Given the description of an element on the screen output the (x, y) to click on. 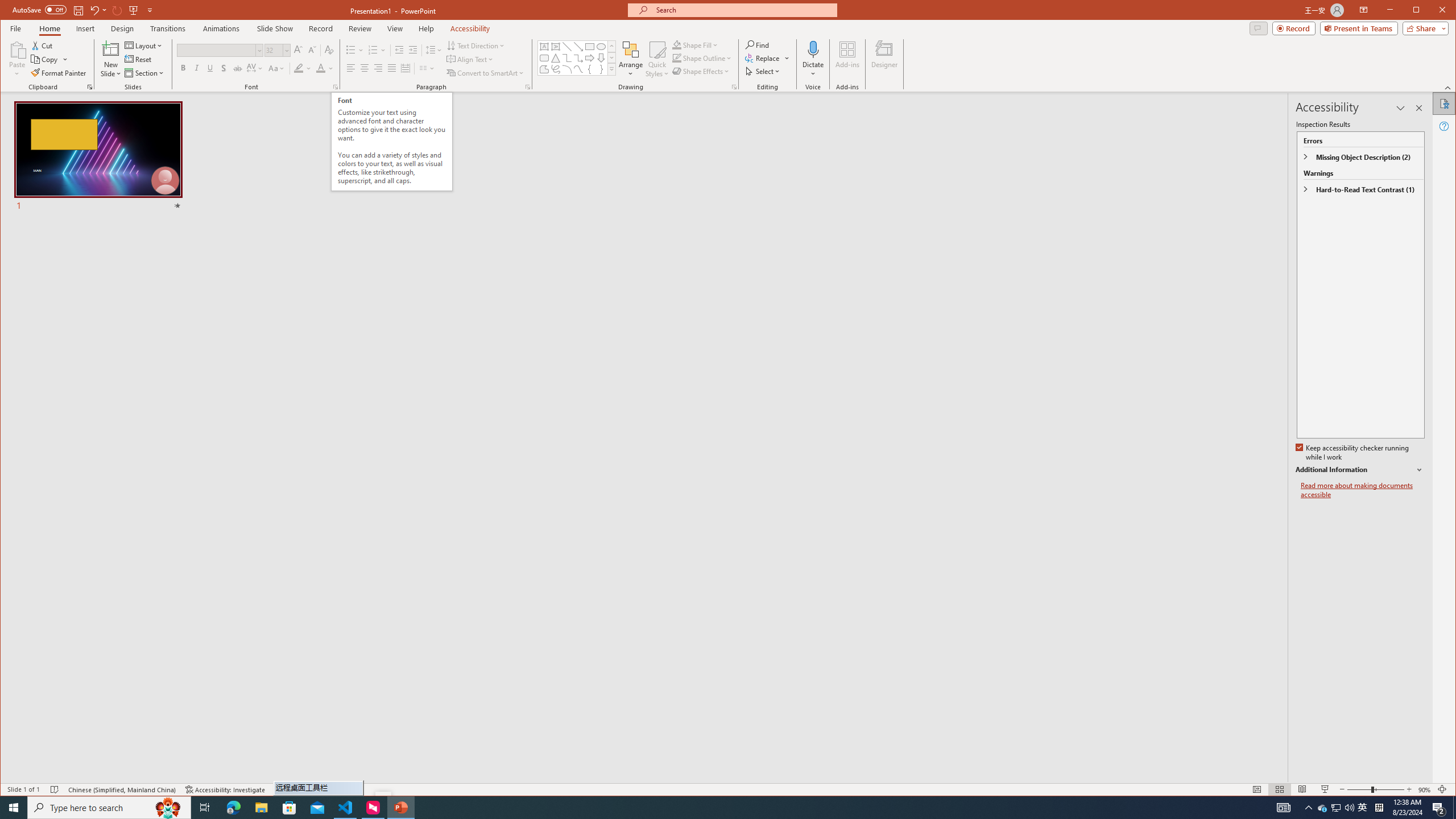
Running applications (700, 807)
